Given the description of an element on the screen output the (x, y) to click on. 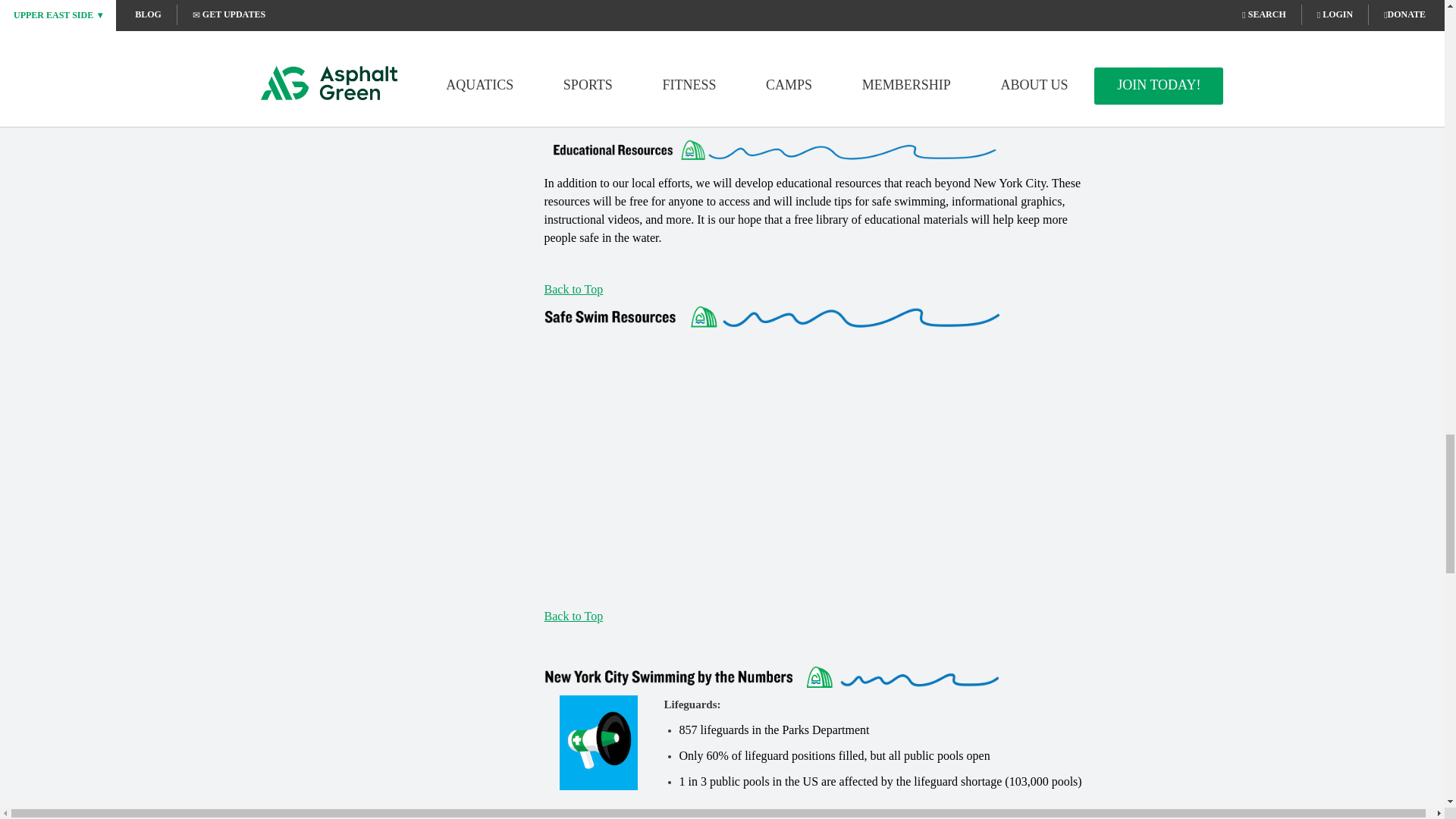
YouTube video player (817, 454)
